Given the description of an element on the screen output the (x, y) to click on. 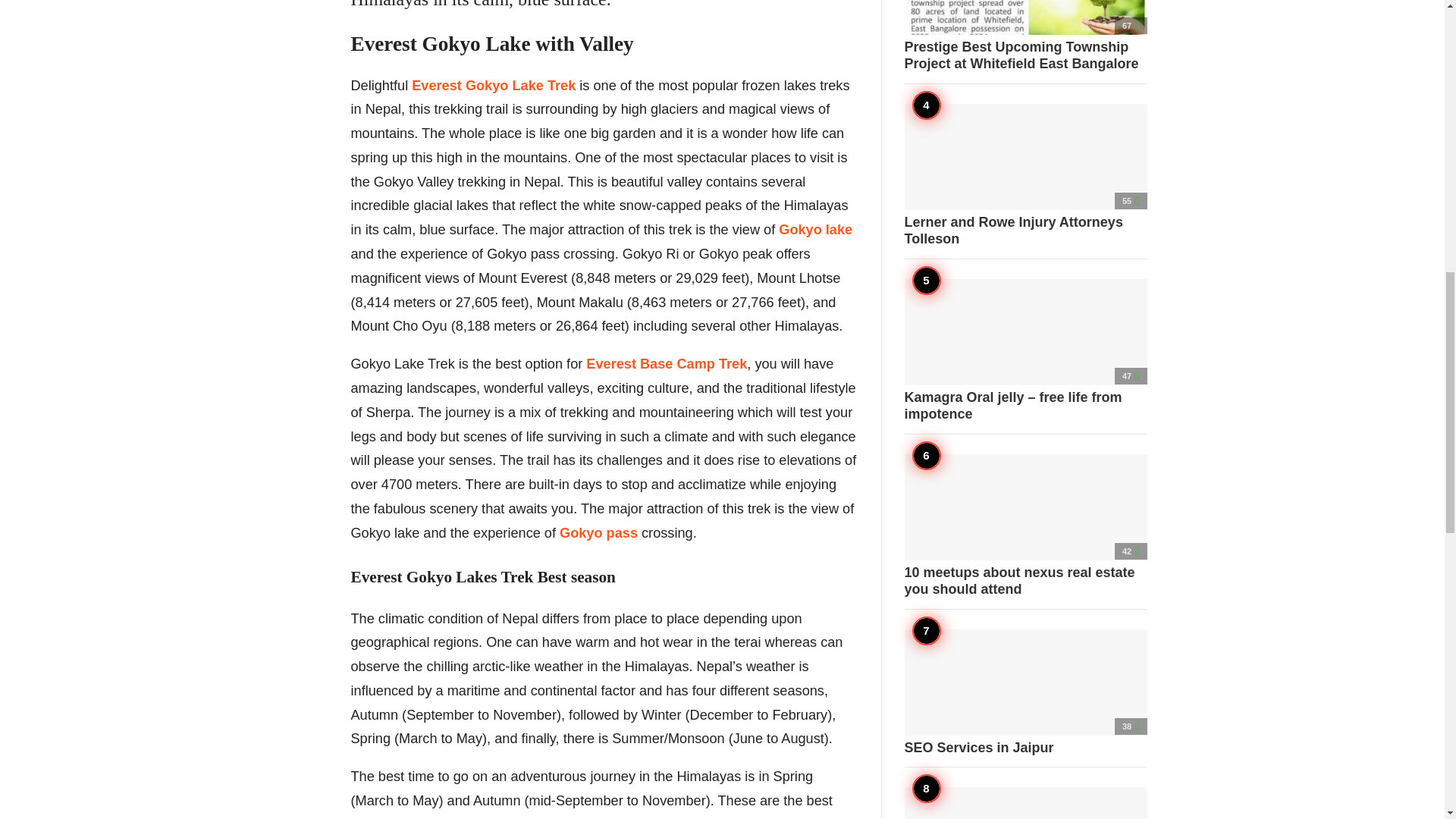
10 meetups about nexus real estate you should attend (1025, 525)
Mass Spectrometry Market Size By Platform, By Application (1025, 803)
SEO Services in Jaipur (1025, 692)
Lerner and Rowe Injury Attorneys Tolleson (1025, 175)
